Given the description of an element on the screen output the (x, y) to click on. 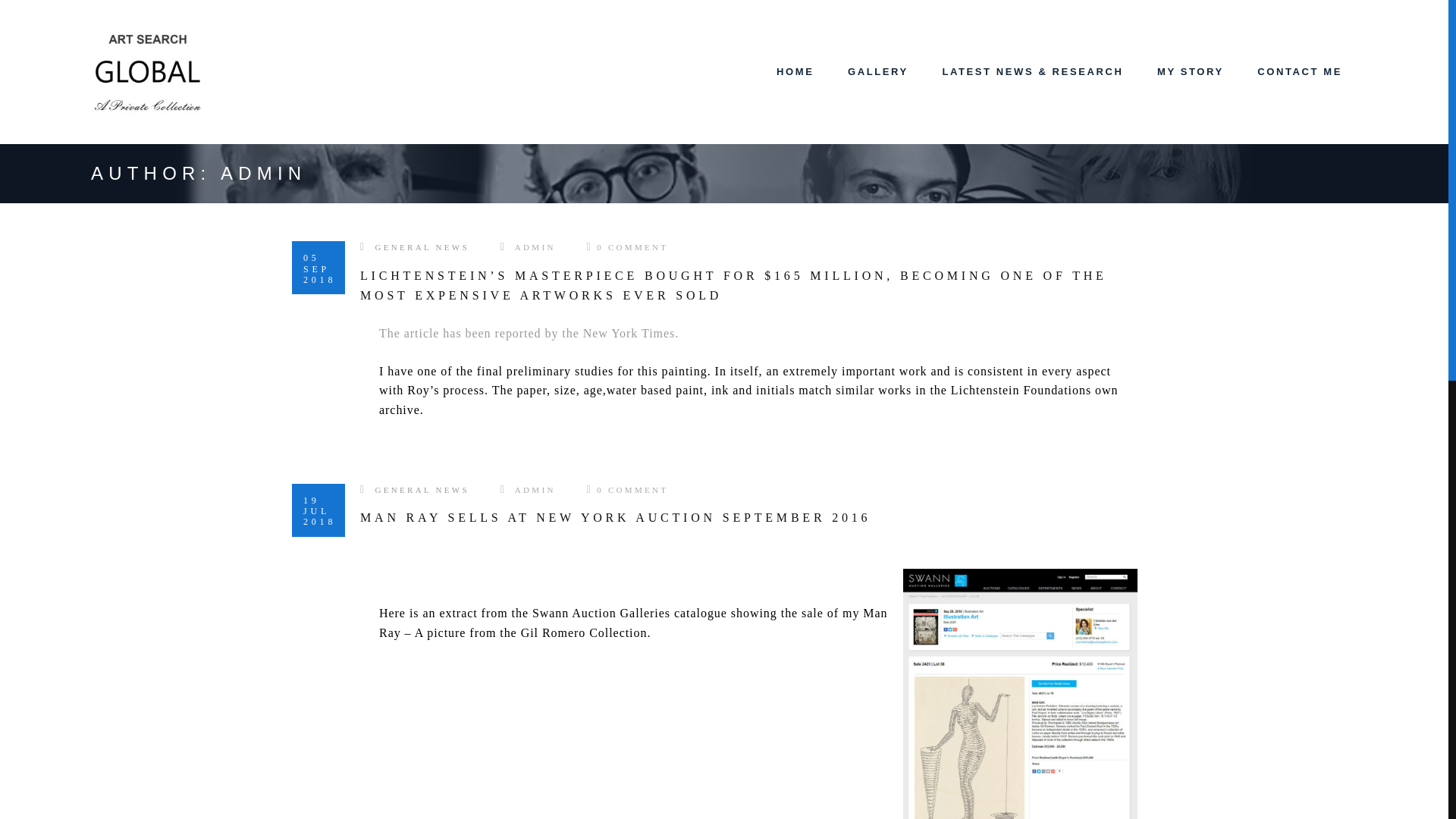
MAN RAY SELLS AT NEW YORK AUCTION SEPTEMBER 2016 (614, 517)
HOME (794, 71)
GENERAL NEWS (421, 246)
MY STORY (1190, 71)
GENERAL NEWS (421, 489)
CONTACT ME (1298, 71)
The article has been reported by the New York Times. (528, 332)
GALLERY (877, 71)
